Given the description of an element on the screen output the (x, y) to click on. 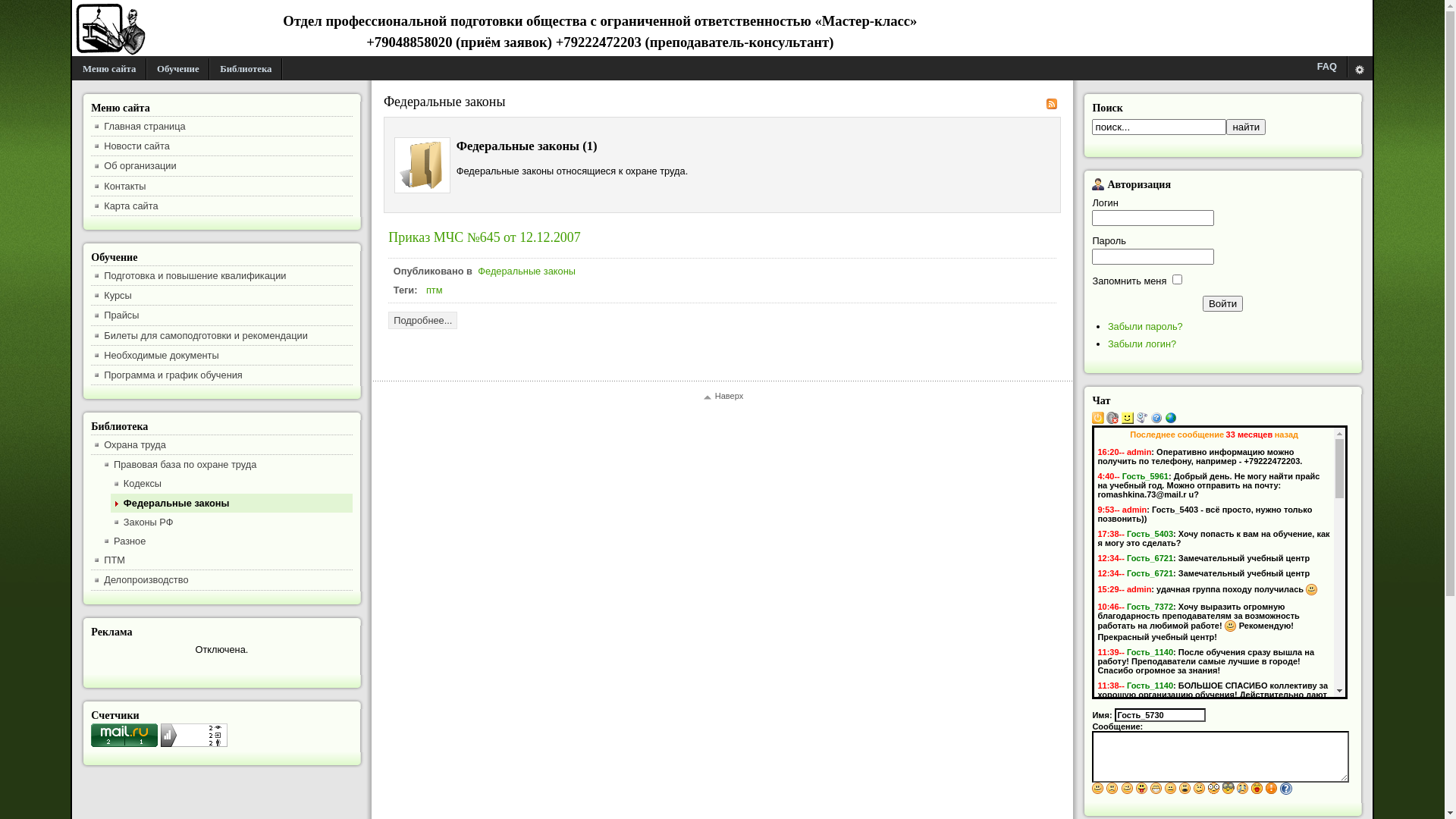
:P Element type: hover (1141, 788)
FAQ Element type: text (1327, 66)
:) Element type: hover (1311, 589)
Kide Chat Element type: hover (1170, 420)
:-* Element type: hover (1257, 788)
:) Element type: hover (1098, 788)
:| Element type: hover (1170, 788)
:S Element type: hover (1199, 788)
:) Element type: hover (1230, 626)
admin Element type: text (1134, 509)
:_( Element type: hover (1242, 788)
admin Element type: text (1138, 588)
8) Element type: hover (1228, 788)
admin Element type: text (1138, 451)
:) Element type: hover (1313, 714)
:D Element type: hover (1156, 788)
O.O Element type: hover (1214, 788)
:( Element type: hover (1112, 788)
;) Element type: hover (1127, 788)
;) Element type: hover (1194, 750)
:O Element type: hover (1185, 788)
(?) Element type: hover (1286, 788)
(!) Element type: hover (1271, 788)
